Given the description of an element on the screen output the (x, y) to click on. 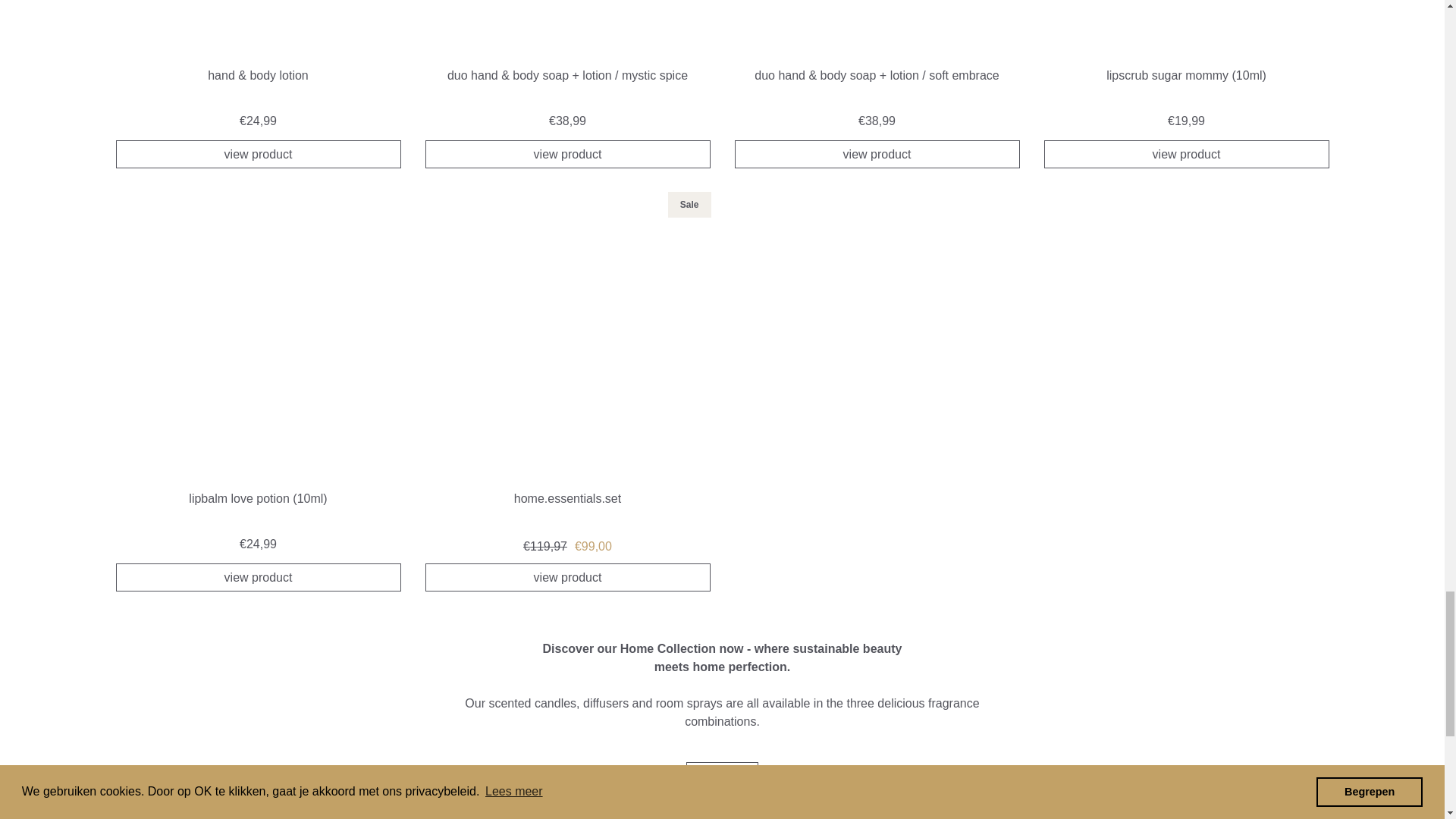
View home.essentials.set (567, 362)
